Given the description of an element on the screen output the (x, y) to click on. 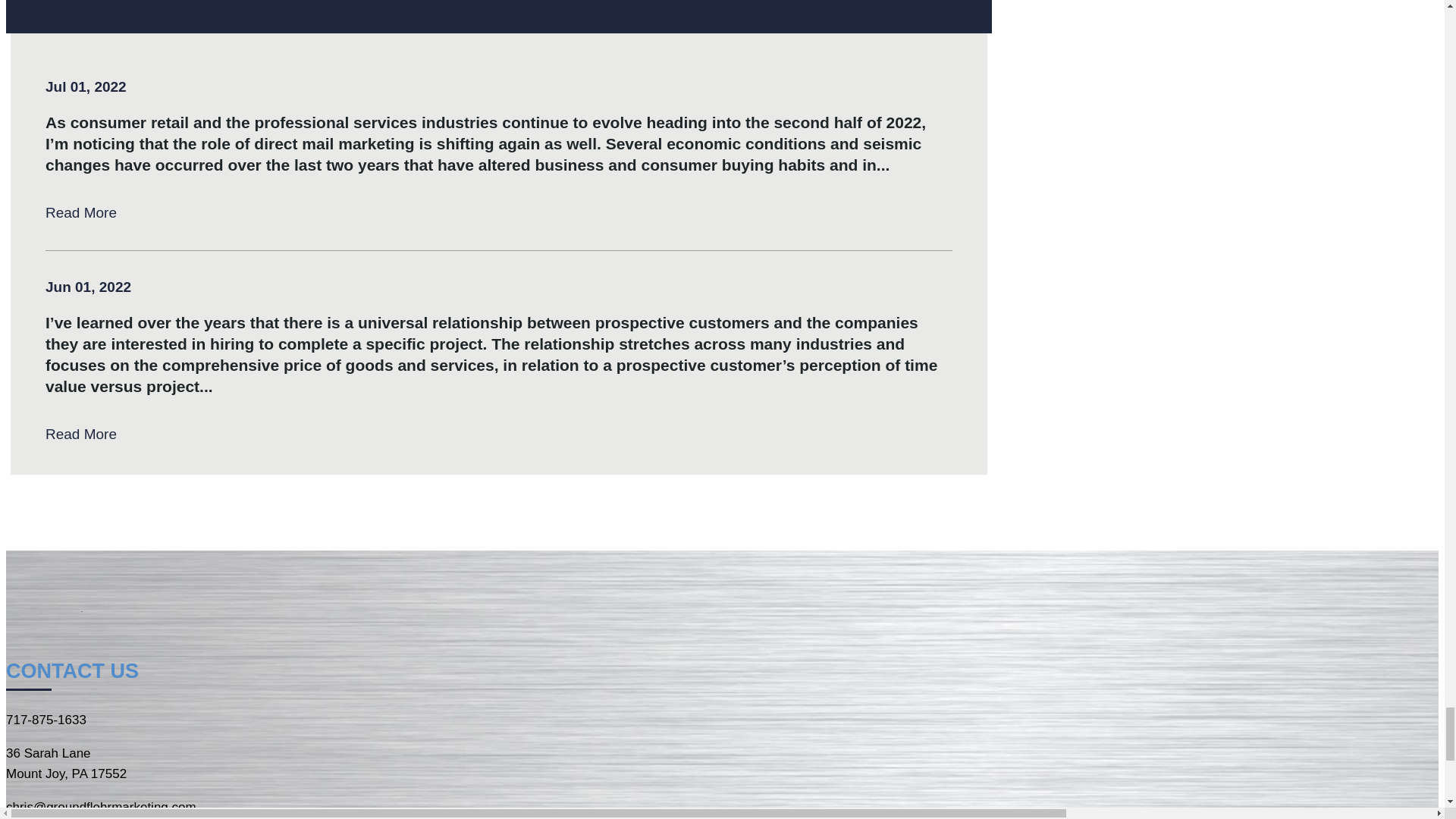
Read More (80, 434)
Read More (80, 212)
717-875-1633 (45, 719)
